Given the description of an element on the screen output the (x, y) to click on. 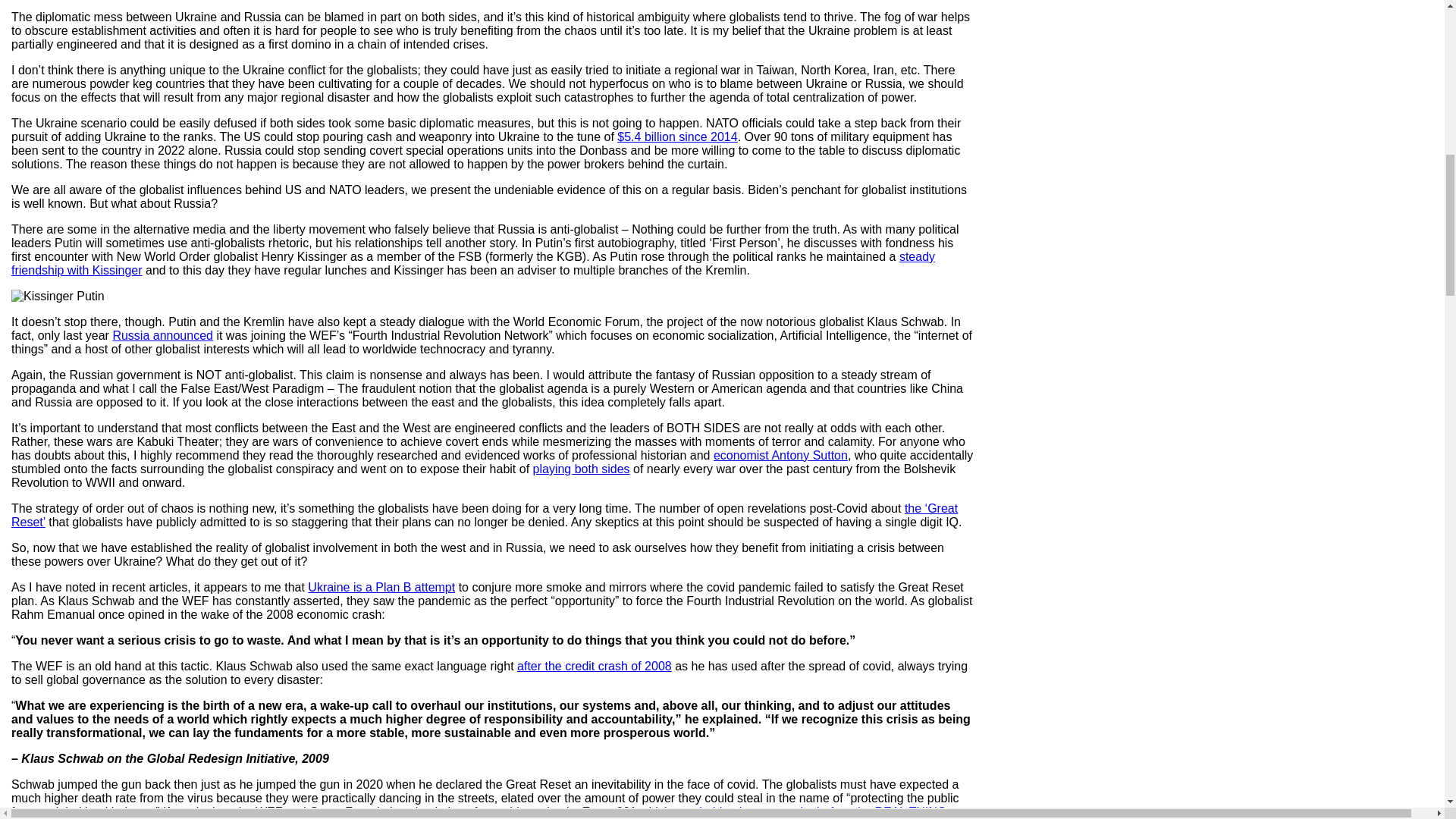
steady friendship with Kissinger (472, 263)
playing both sides (581, 468)
after the credit crash of 2008 (593, 666)
economist Antony Sutton (780, 454)
Ukraine is a Plan B attempt (380, 586)
held only two months before the REAL THING happened (479, 812)
Russia announced (162, 335)
